Given the description of an element on the screen output the (x, y) to click on. 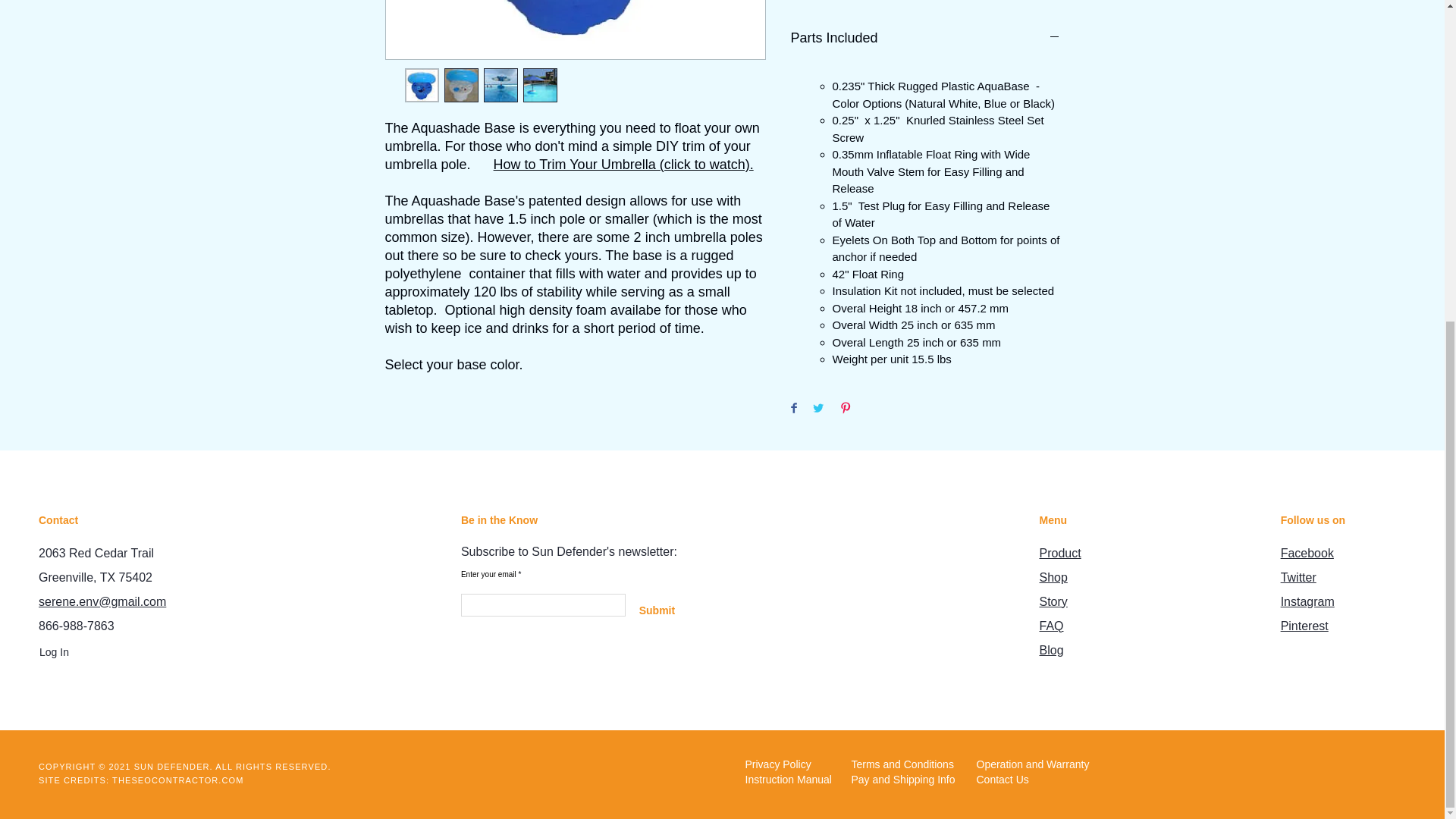
Submit (656, 611)
Contact Us (1031, 780)
Log In (54, 652)
Story (1053, 601)
Terms and Conditions (901, 765)
Blog (1050, 649)
FAQ (1050, 625)
Facebook (1307, 553)
Instruction Manual (792, 780)
Pay and Shipping Info (906, 780)
